Given the description of an element on the screen output the (x, y) to click on. 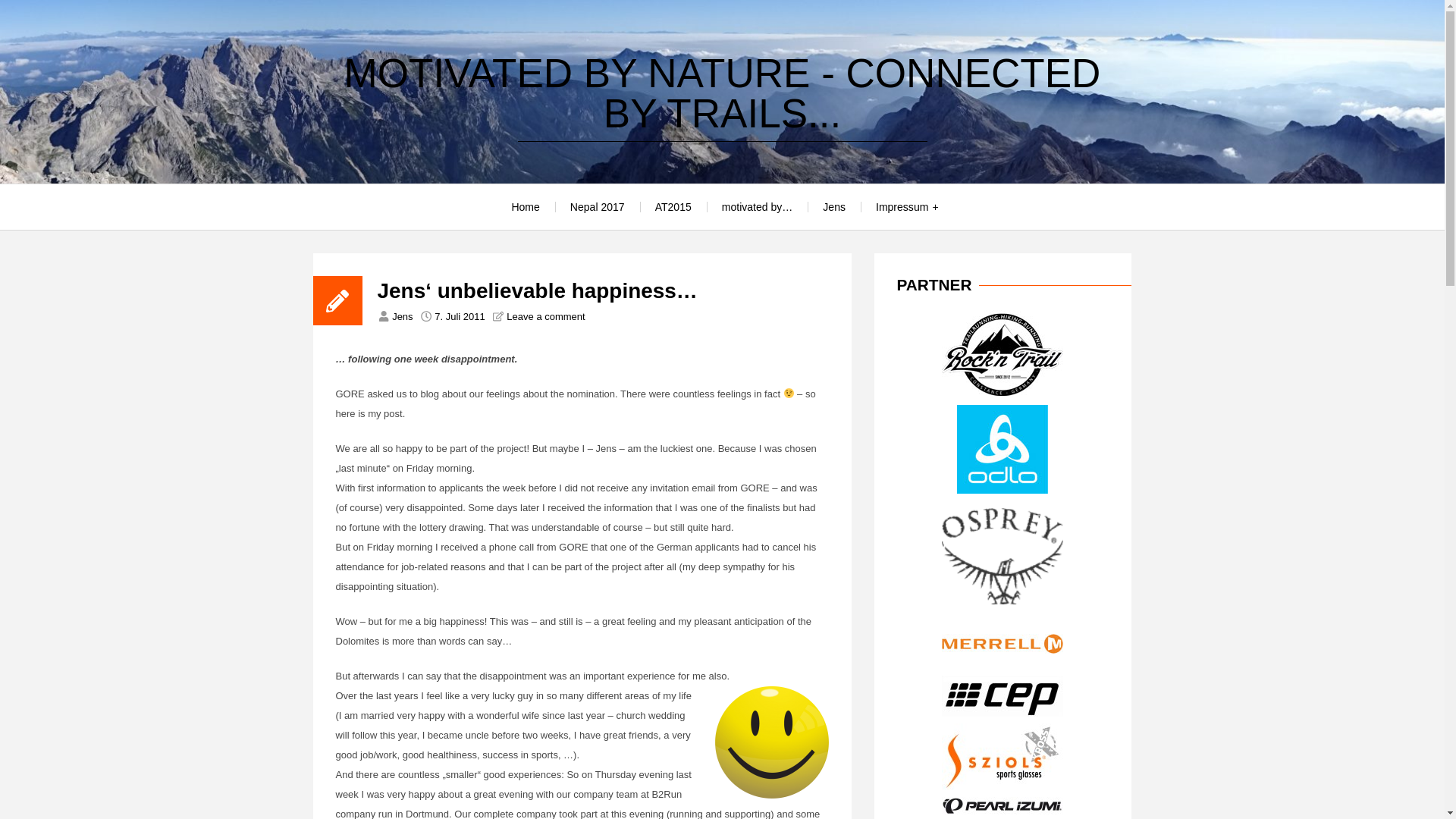
AT2015 (673, 207)
Nepal 2017 (597, 207)
CEP (1002, 713)
OSPREY (1002, 608)
Merrell DE (1002, 665)
RocknTrail (1002, 394)
Odlo DE (1002, 490)
Jens (401, 316)
Jens (834, 207)
smile (771, 742)
